Given the description of an element on the screen output the (x, y) to click on. 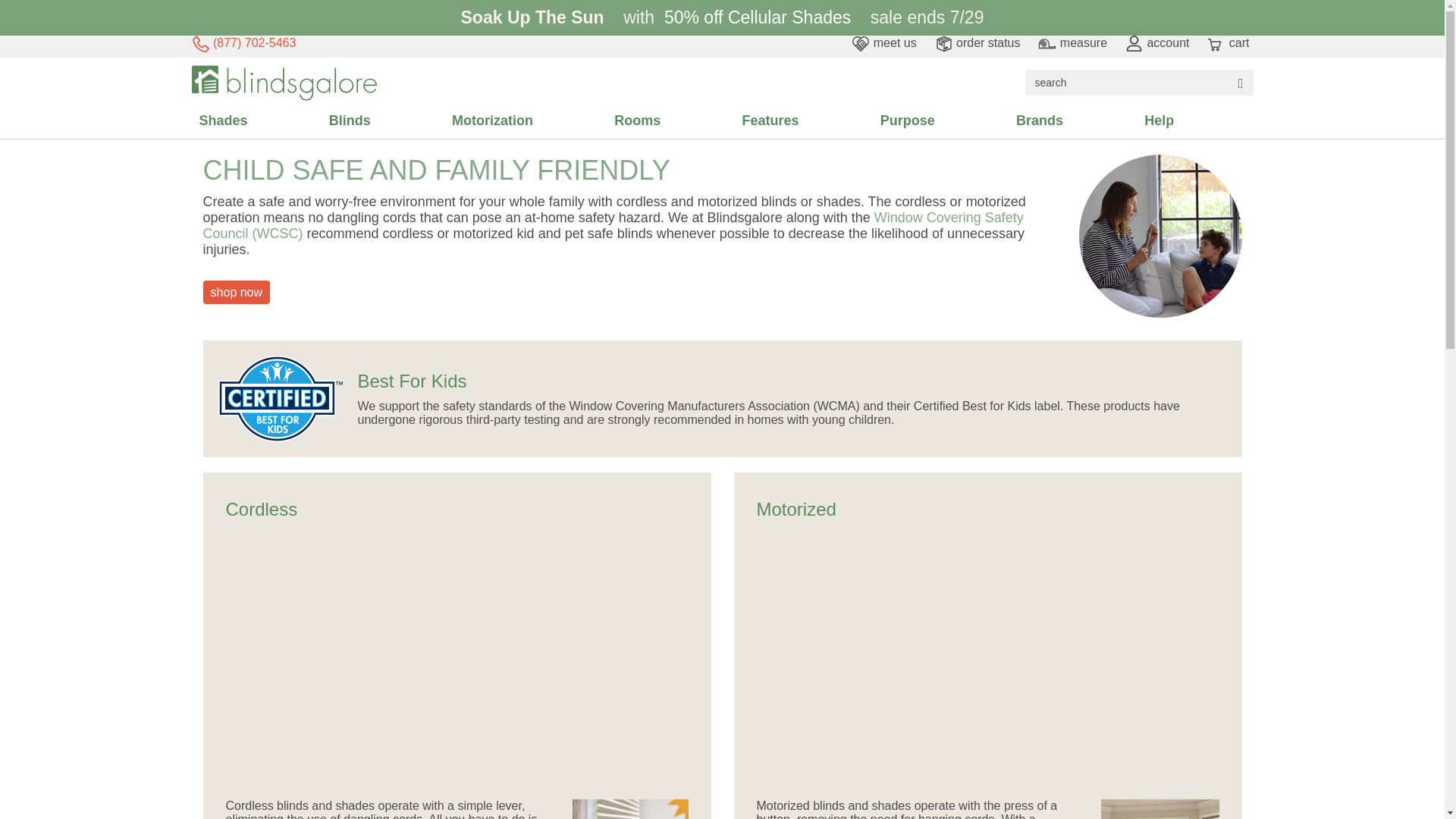
Order Status (977, 42)
cart (1228, 42)
Meet Us (883, 42)
Account (1157, 42)
measure (1072, 42)
account (1157, 42)
meet us (883, 42)
Shades (261, 121)
order status (977, 42)
Measuring (1072, 42)
Blinds (387, 121)
